Given the description of an element on the screen output the (x, y) to click on. 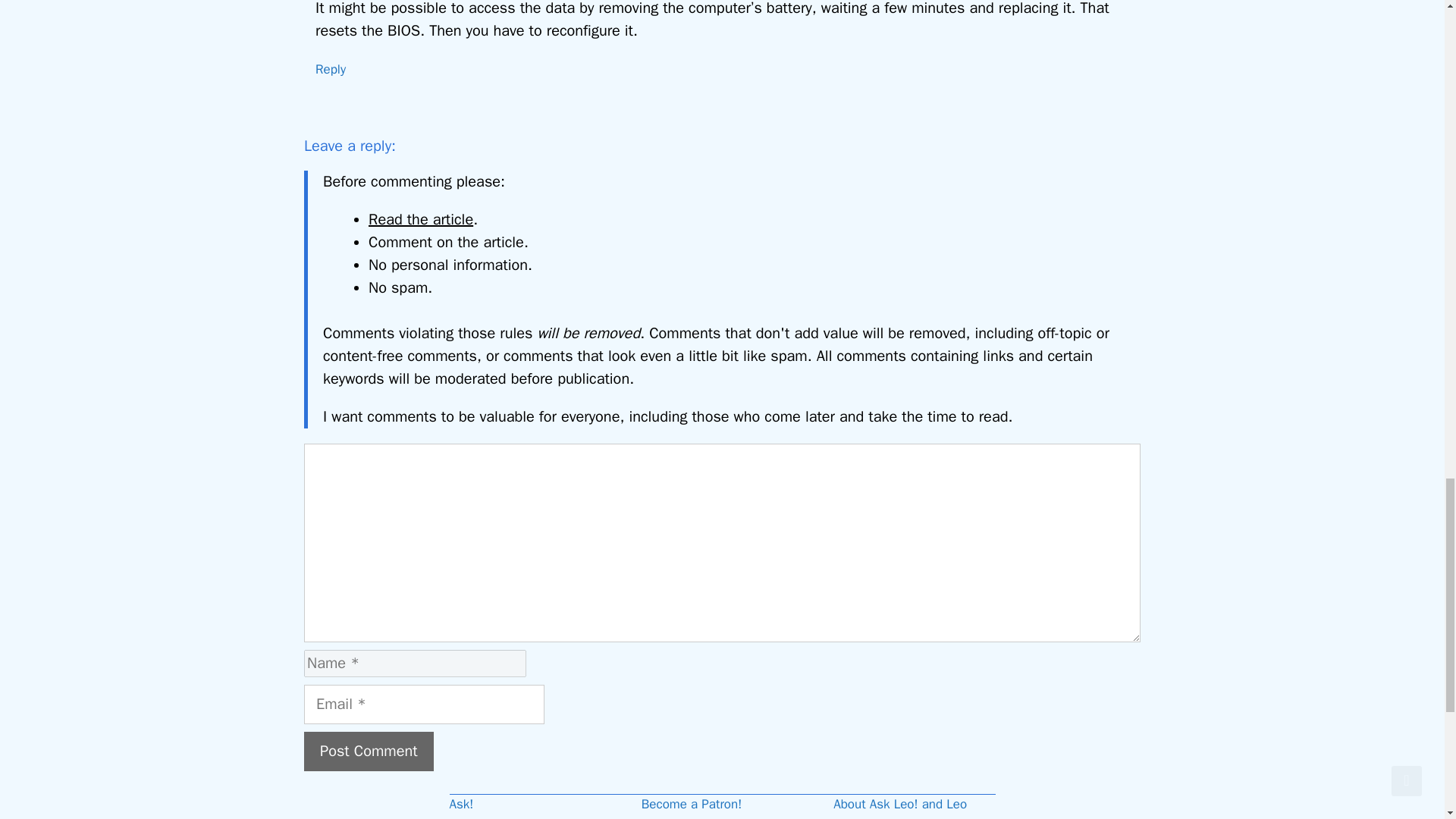
Ask! (460, 804)
Reply (330, 68)
Post Comment (368, 751)
Post Comment (368, 751)
